Given the description of an element on the screen output the (x, y) to click on. 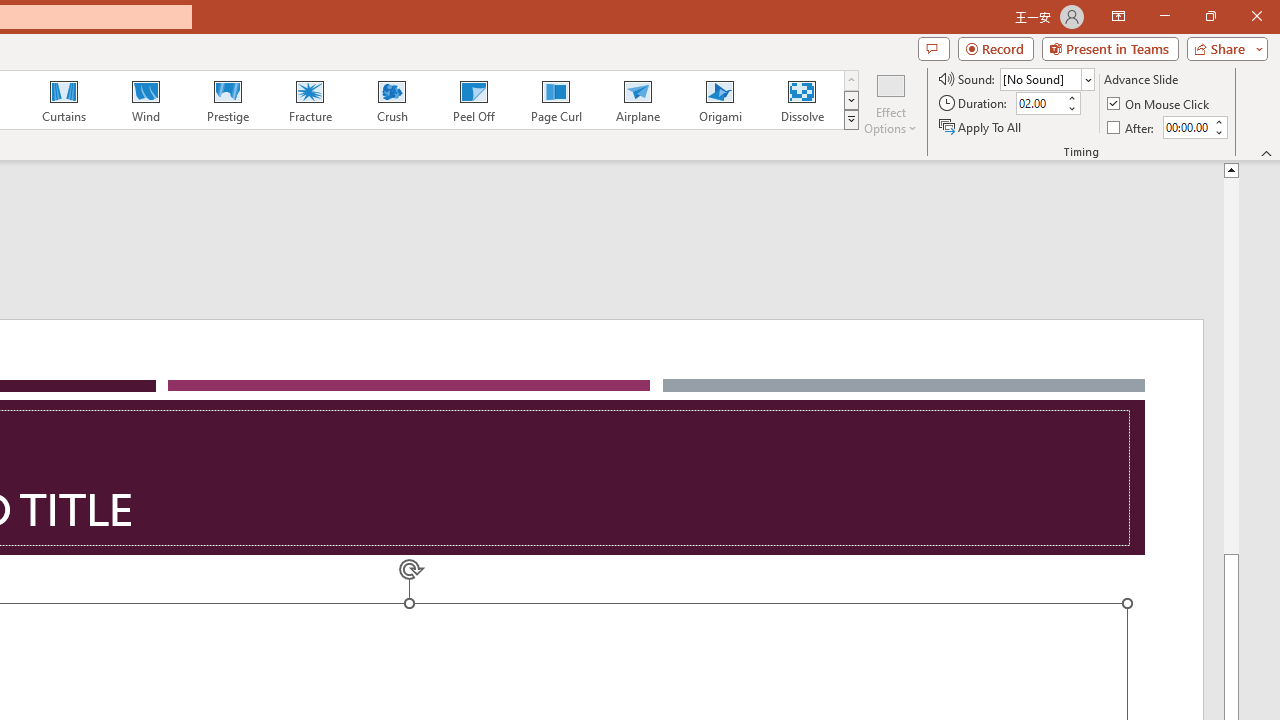
Wind (145, 100)
Origami (719, 100)
Apply To All (981, 126)
Transition Effects (850, 120)
Duration (1039, 103)
Fracture (309, 100)
Dissolve (802, 100)
